Given the description of an element on the screen output the (x, y) to click on. 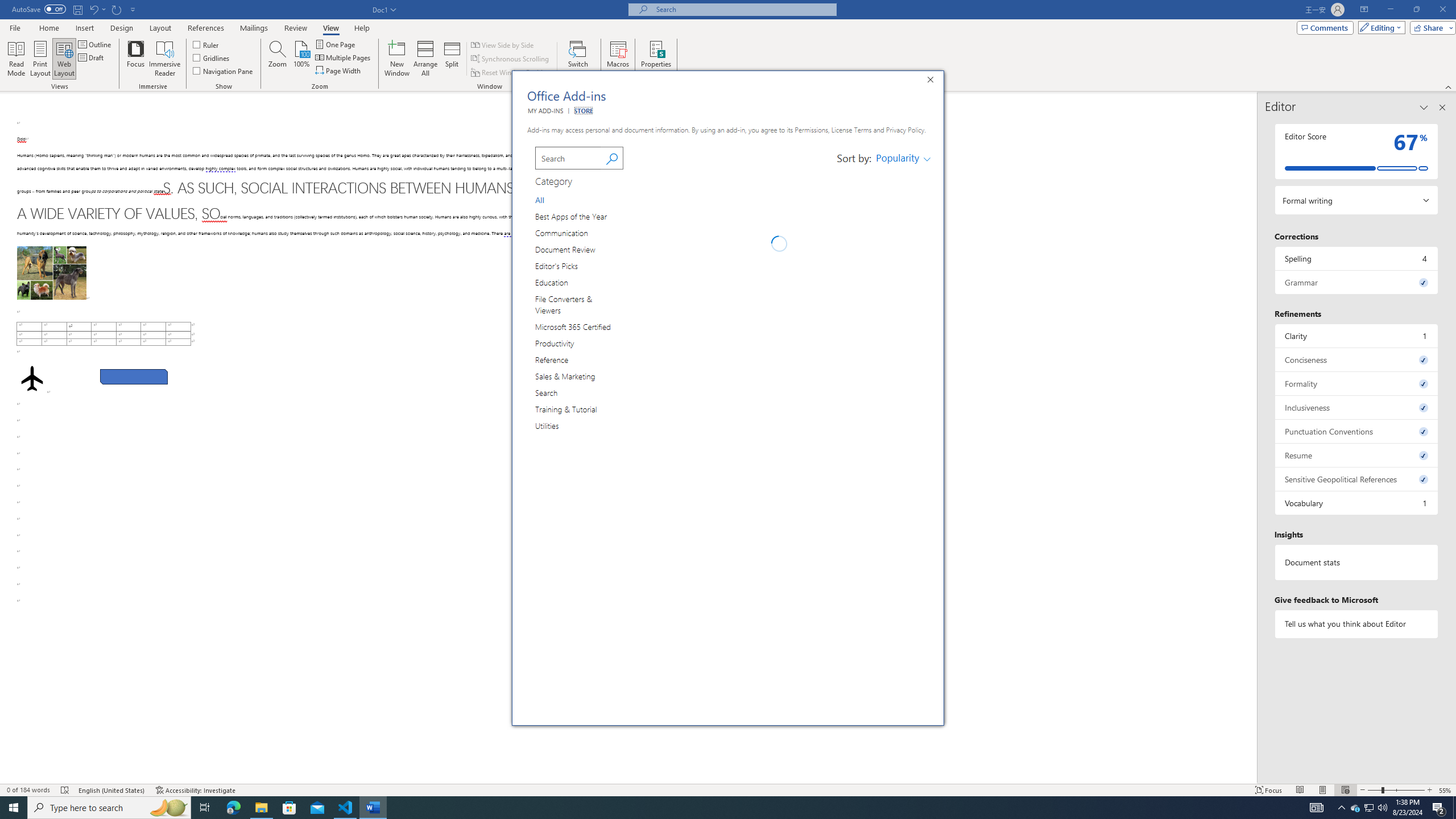
Zoom 55% (1445, 790)
Category Group Communication 3 of 14 (563, 232)
Add Wikipedia (902, 322)
Vocabulary, 1 issue. Press space or enter to review items. (1356, 502)
View Macros (617, 48)
officeatwork | Wizard for Office icon (646, 695)
Add Mobile Data Collection - Scan-IT to Office (902, 368)
100% (301, 58)
